Given the description of an element on the screen output the (x, y) to click on. 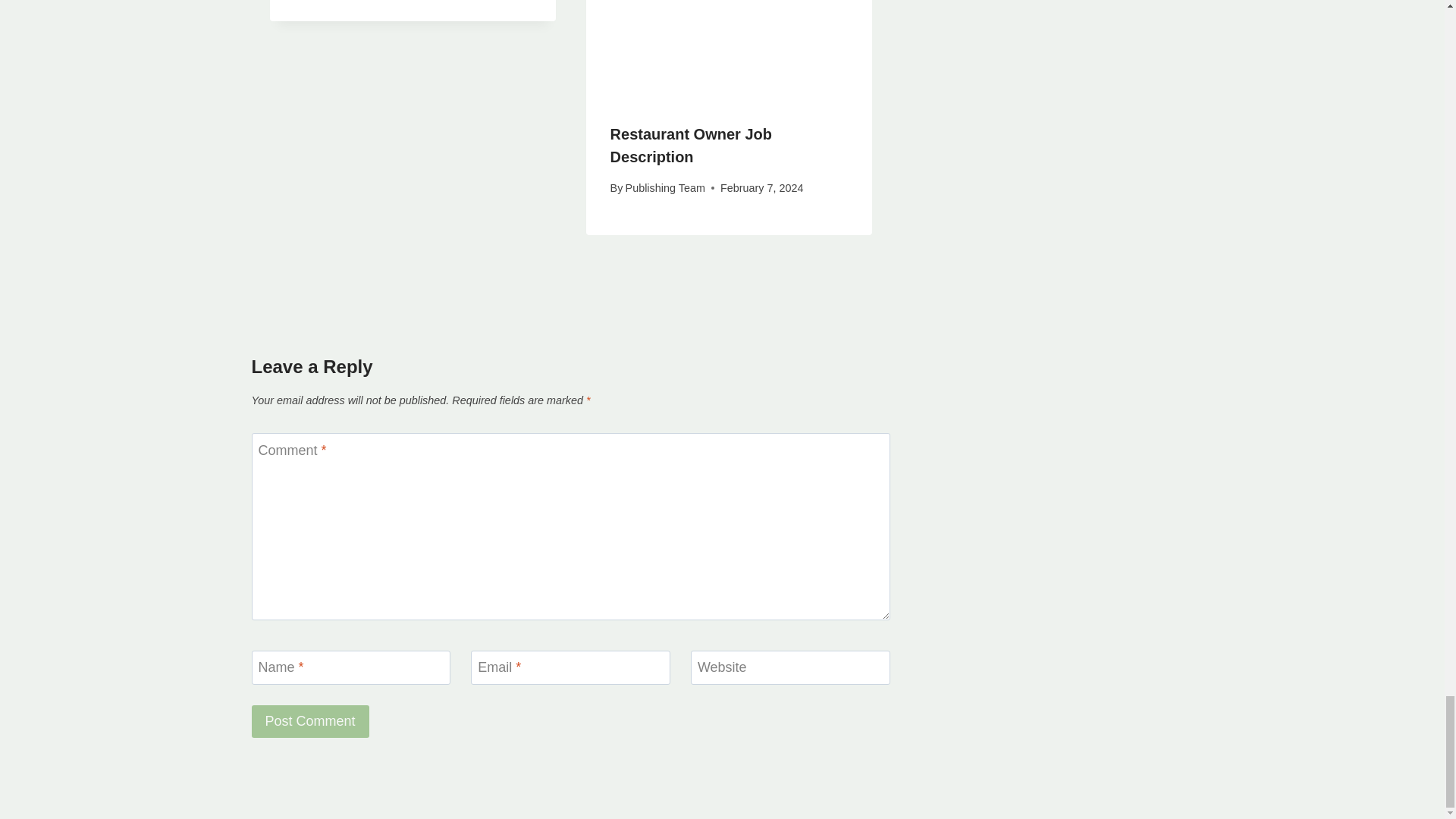
Post Comment (310, 721)
